Given the description of an element on the screen output the (x, y) to click on. 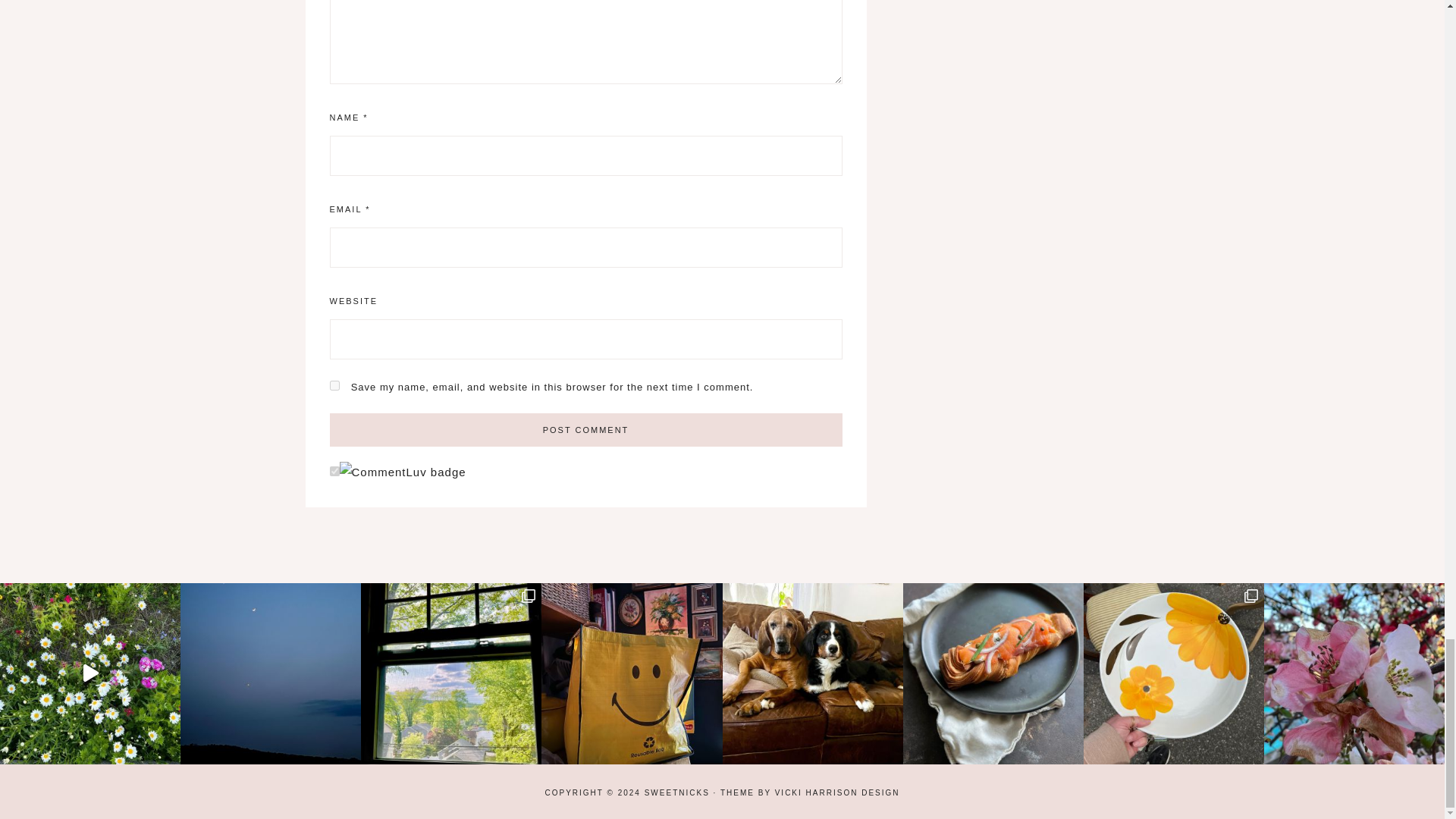
on (334, 470)
yes (334, 385)
Post Comment (585, 429)
